Given the description of an element on the screen output the (x, y) to click on. 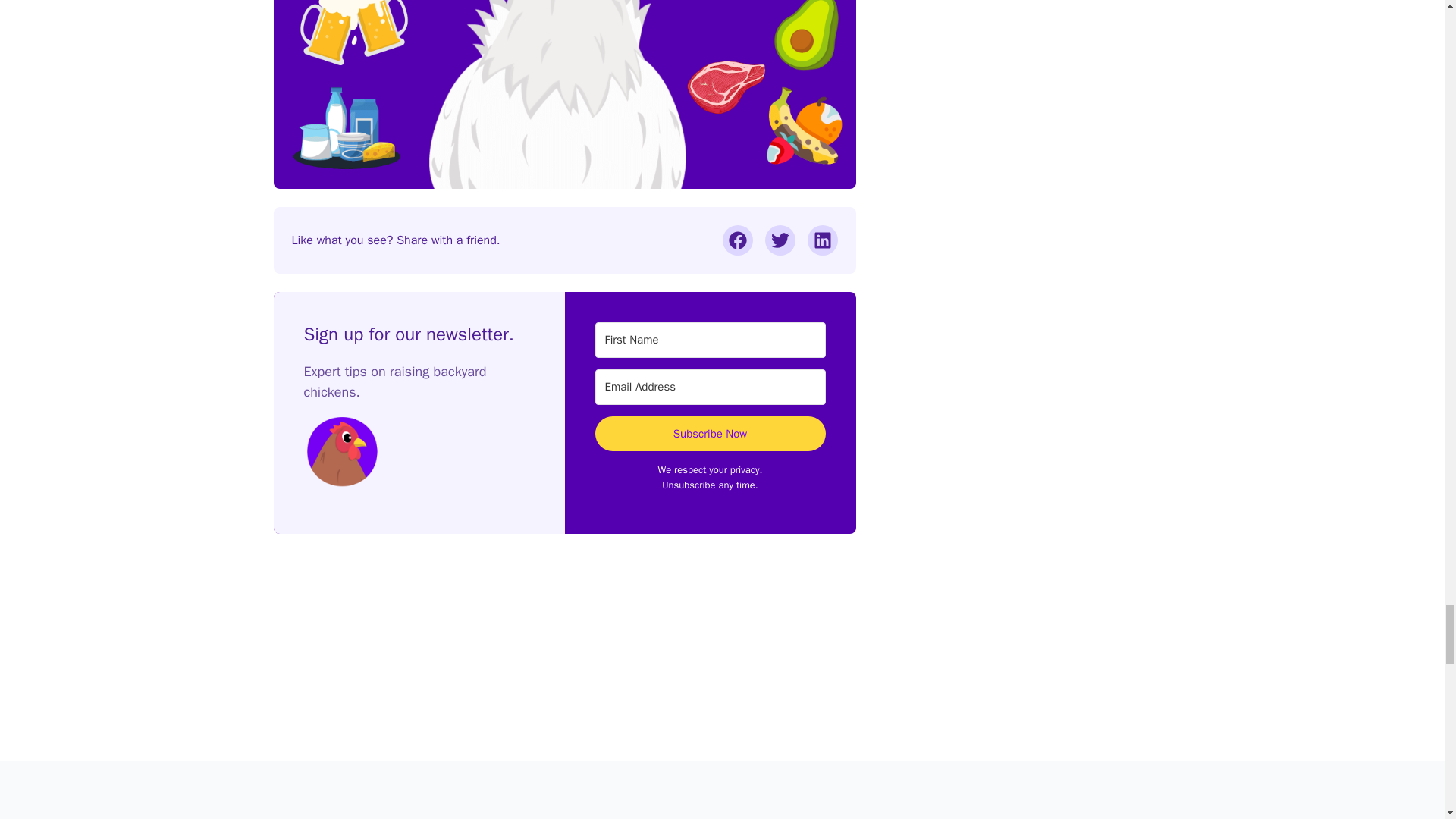
Subscribe Now (709, 434)
